Given the description of an element on the screen output the (x, y) to click on. 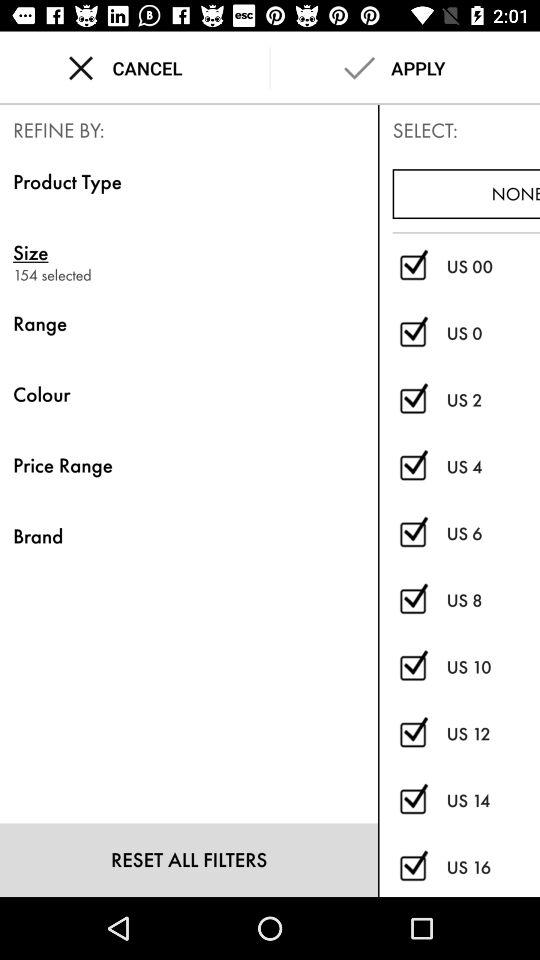
press the icon below us 6 (493, 600)
